Given the description of an element on the screen output the (x, y) to click on. 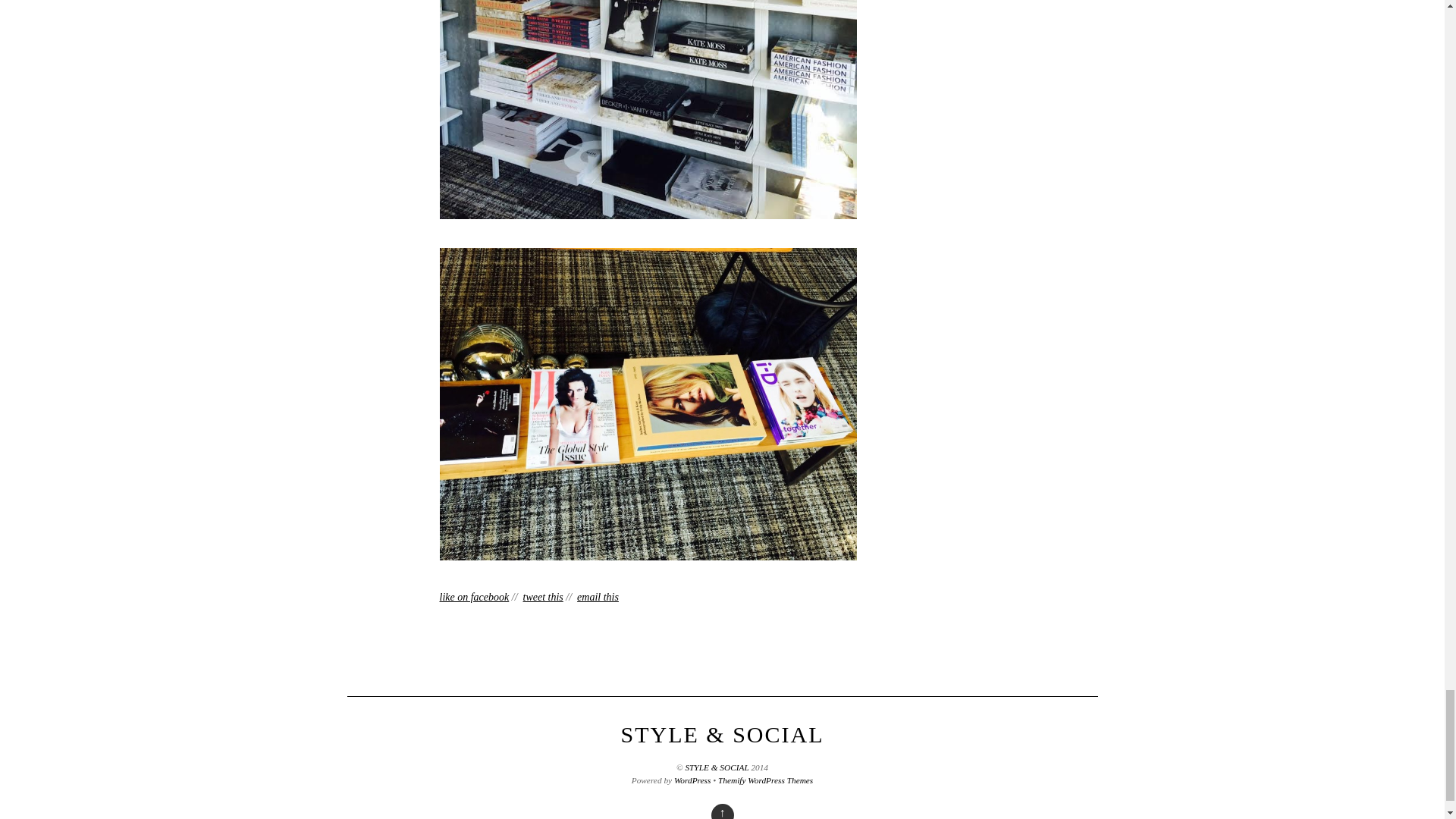
email this (597, 596)
like on facebook (474, 596)
tweet this (542, 596)
